Given the description of an element on the screen output the (x, y) to click on. 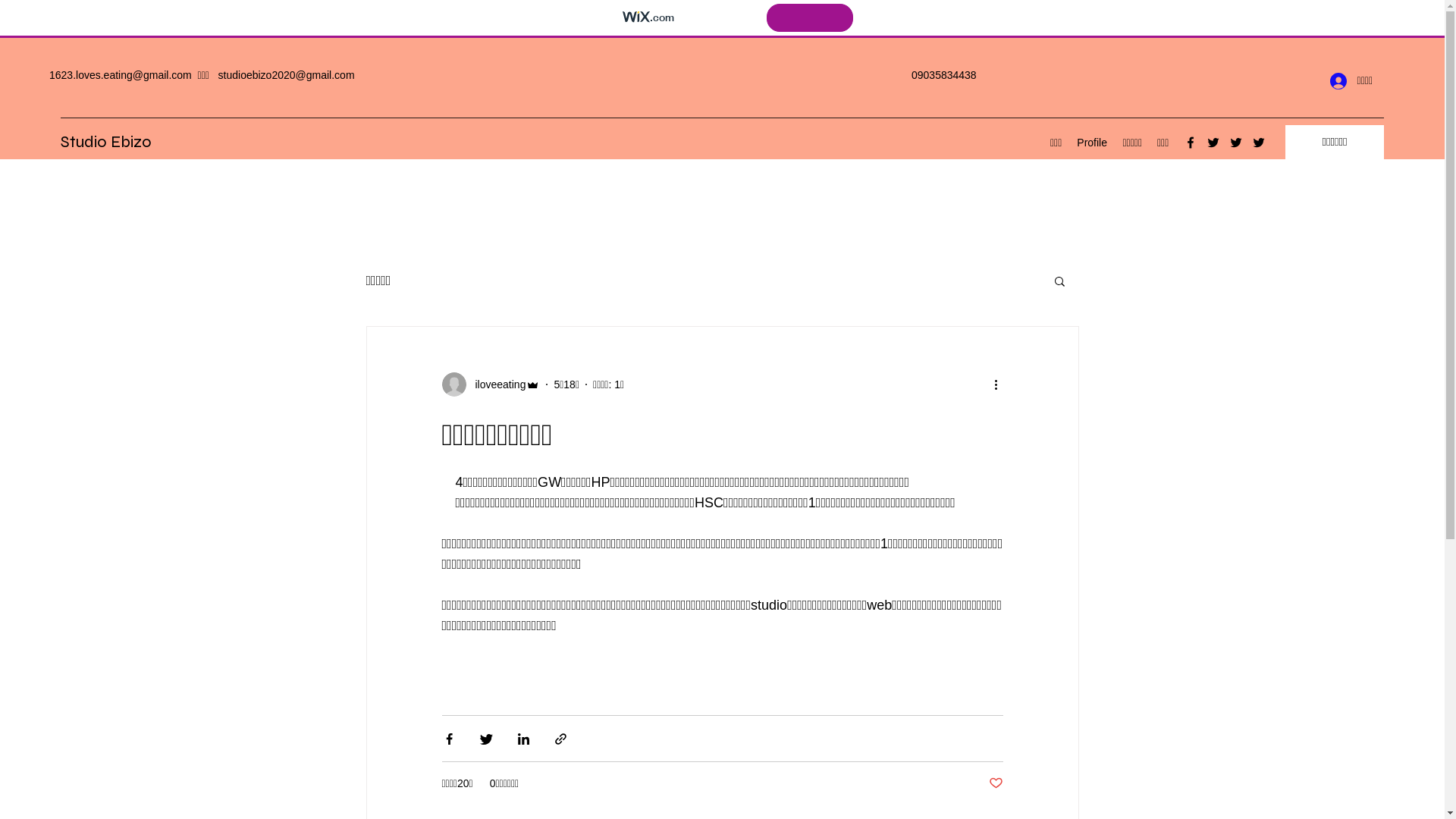
Studio Ebizo Element type: text (105, 141)
iloveeating Element type: text (490, 384)
1623.loves.eating@gmail.com Element type: text (120, 75)
studioebizo2020@gmail.com Element type: text (286, 75)
Profile Element type: text (1091, 142)
